Given the description of an element on the screen output the (x, y) to click on. 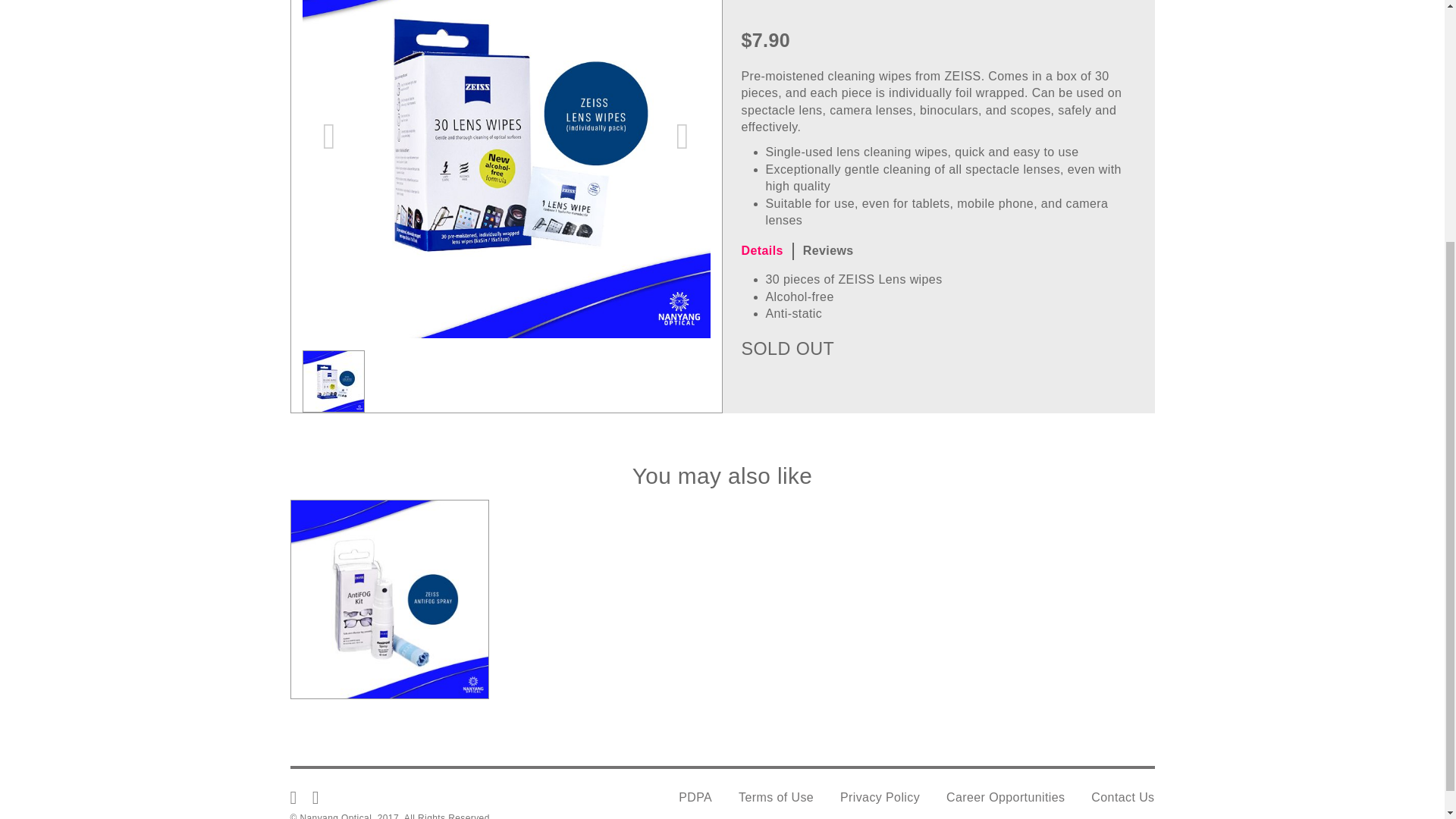
Reviews (833, 251)
Details (767, 251)
Join us for an exciting career path (1005, 798)
